Given the description of an element on the screen output the (x, y) to click on. 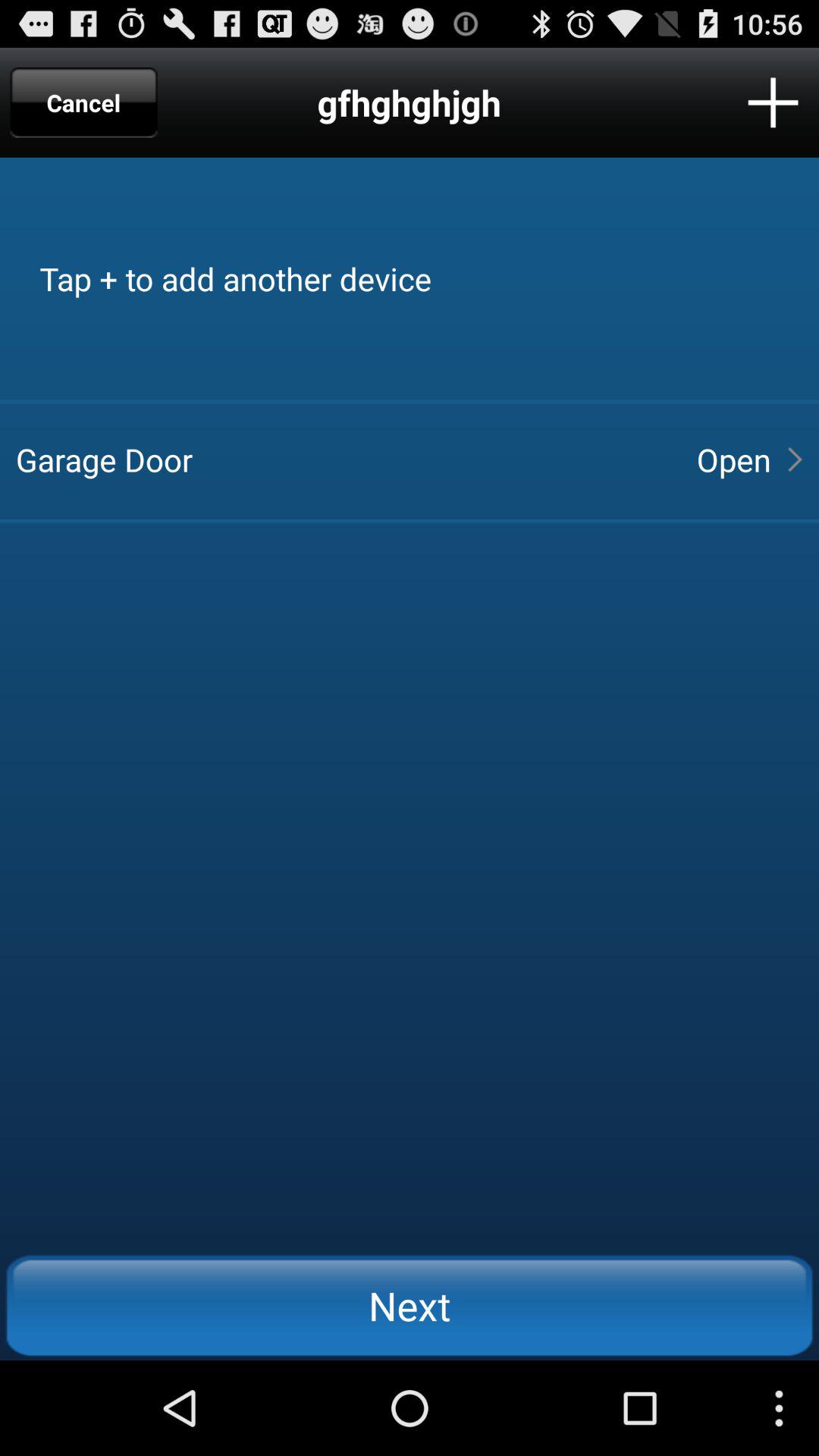
jump until open icon (733, 459)
